Given the description of an element on the screen output the (x, y) to click on. 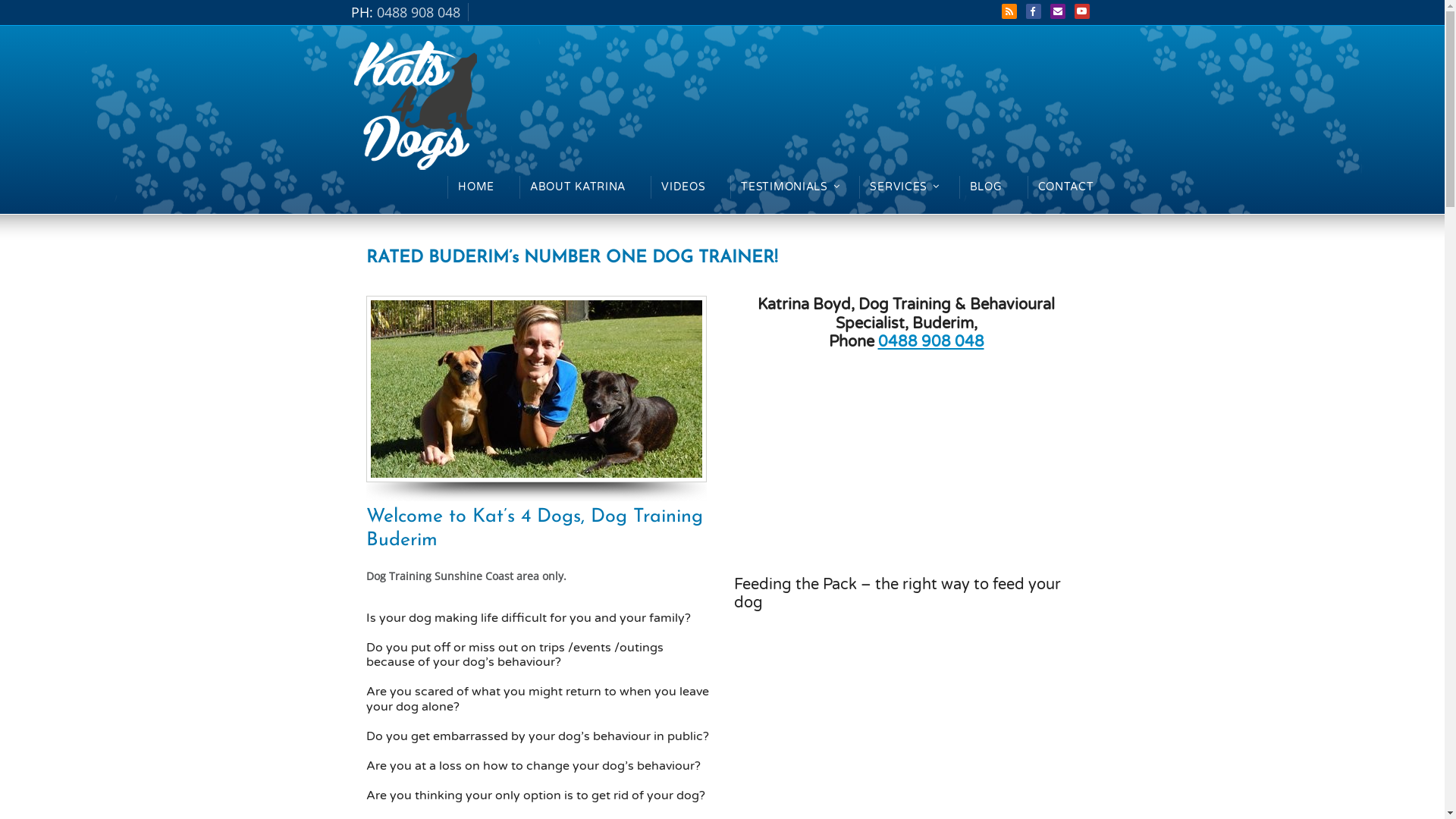
0488 908 048 Element type: text (421, 12)
Email Element type: text (1056, 10)
RSS Element type: text (1008, 10)
CONTACT Element type: text (1066, 186)
VIDEOS Element type: text (683, 186)
Facebook Element type: text (1032, 10)
SERVICES Element type: text (901, 186)
HOME Element type: text (476, 186)
ABOUT KATRINA Element type: text (577, 186)
0488 908 048 Element type: text (931, 341)
TESTIMONIALS Element type: text (787, 186)
YouTube Element type: text (1080, 10)
BLOG Element type: text (985, 186)
